Given the description of an element on the screen output the (x, y) to click on. 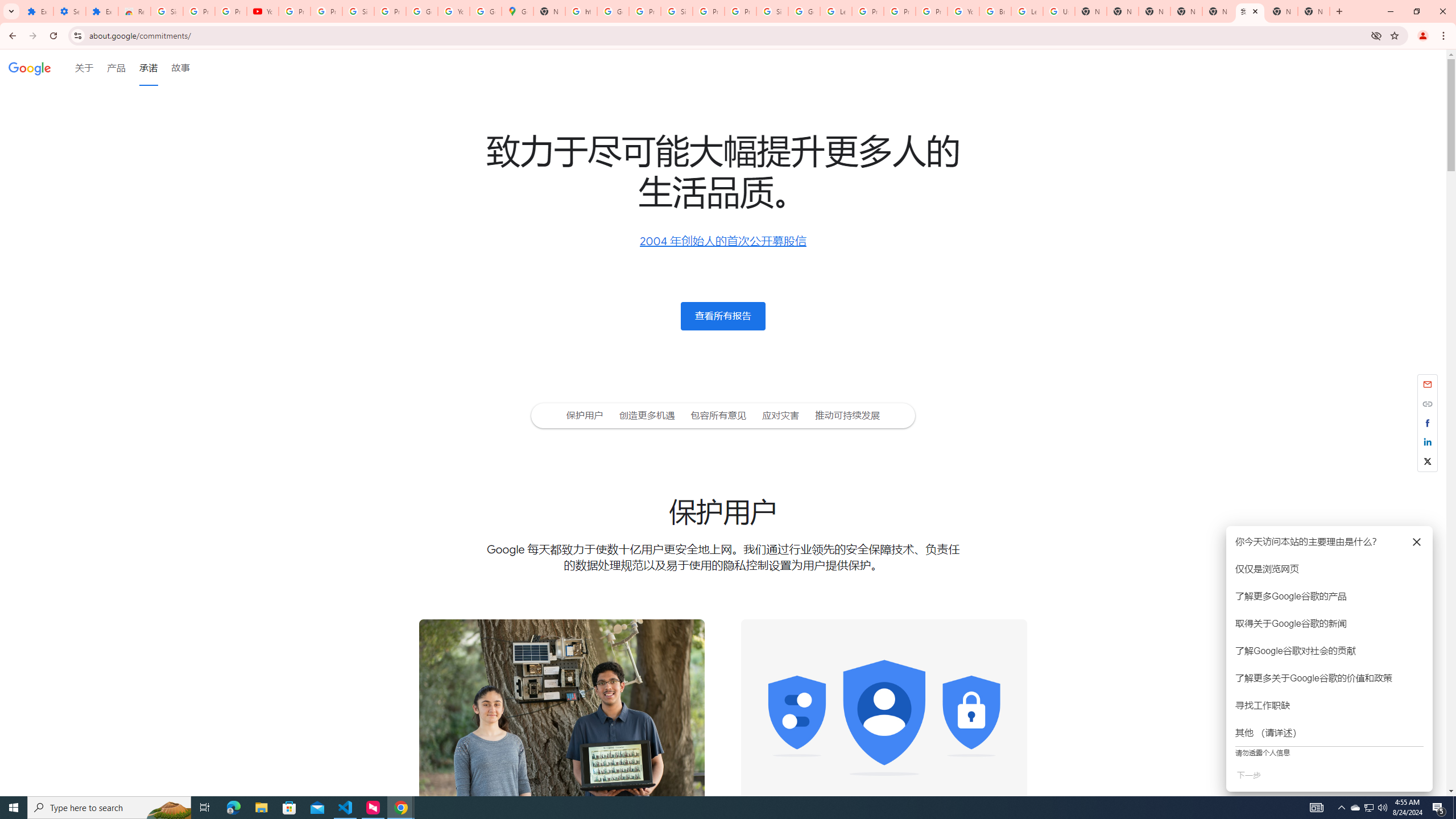
Extensions (37, 11)
Privacy Help Center - Policies Help (868, 11)
Settings (69, 11)
Privacy Help Center - Policies Help (899, 11)
Google (29, 67)
YouTube (453, 11)
